Given the description of an element on the screen output the (x, y) to click on. 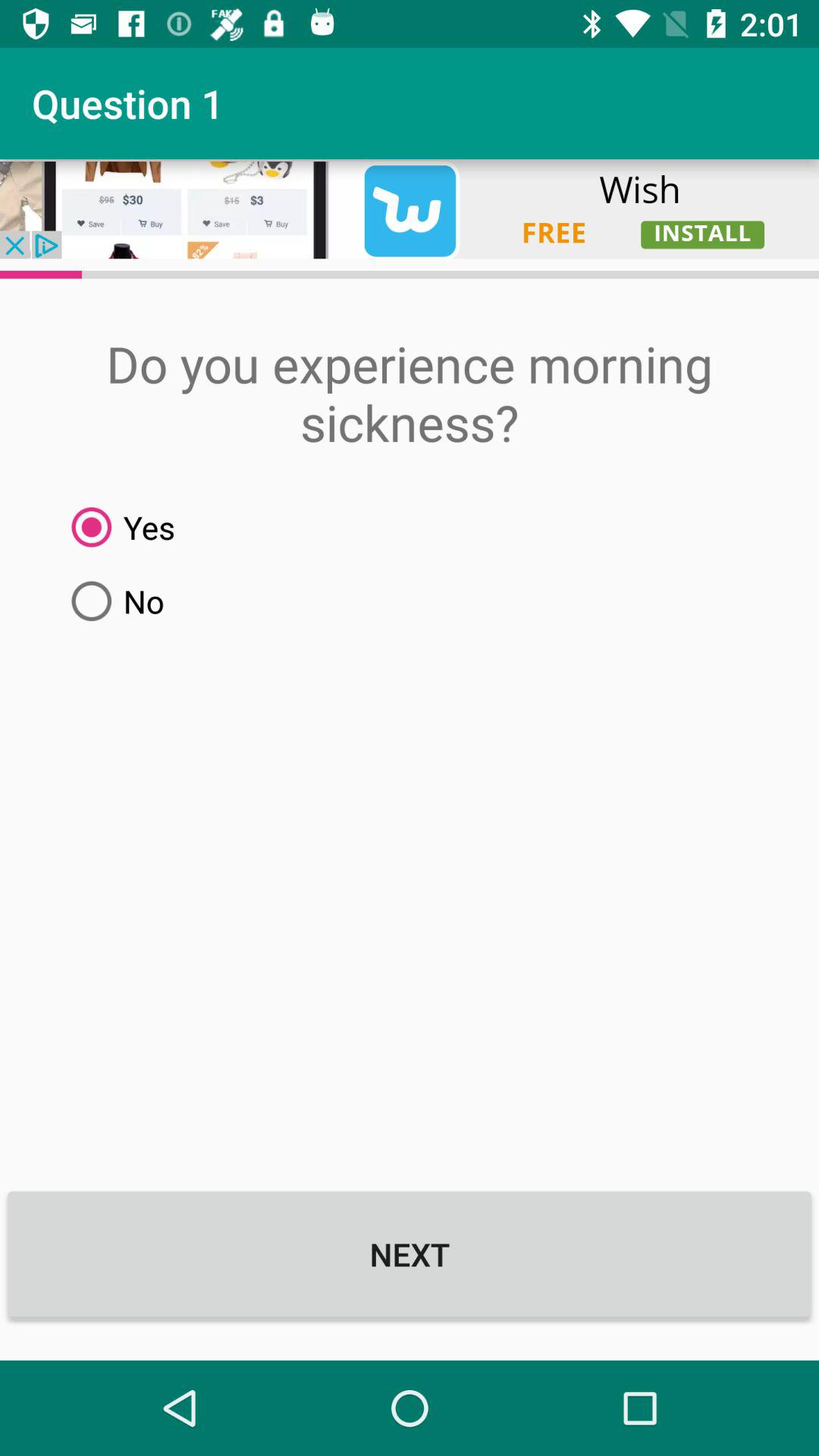
banner advertisement (409, 208)
